Given the description of an element on the screen output the (x, y) to click on. 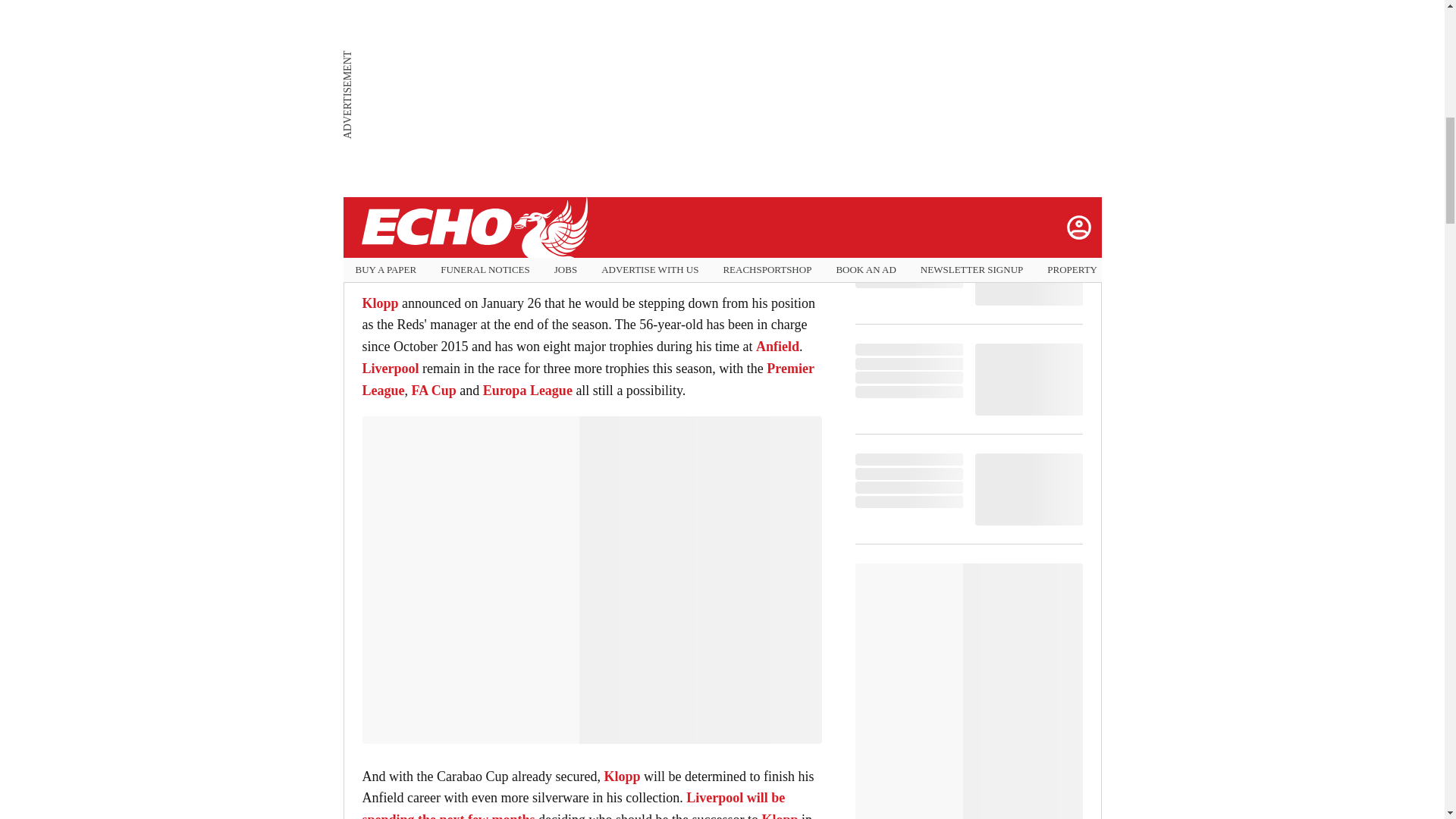
FA Cup (432, 390)
Klopp (622, 776)
Europa League (527, 390)
Anfield (777, 346)
Klopp (779, 815)
Premier League (587, 379)
Liverpool (392, 368)
Liverpool will be spending the next few months (574, 804)
Klopp (380, 303)
